Given the description of an element on the screen output the (x, y) to click on. 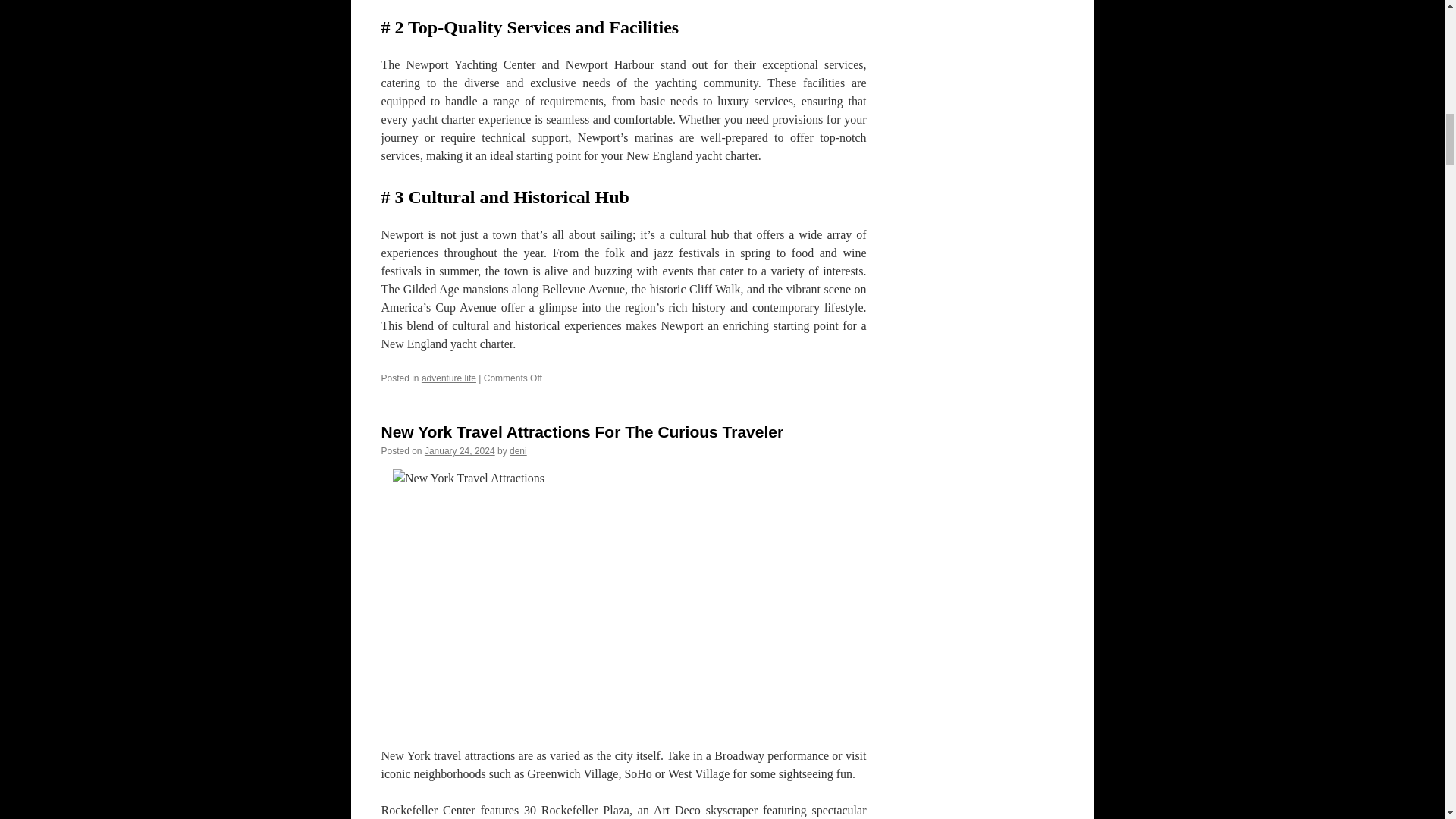
deni (518, 450)
January 24, 2024 (460, 450)
View all posts by deni (518, 450)
1:57 am (460, 450)
New York Travel Attractions For The Curious Traveler (581, 431)
adventure life (449, 378)
